Given the description of an element on the screen output the (x, y) to click on. 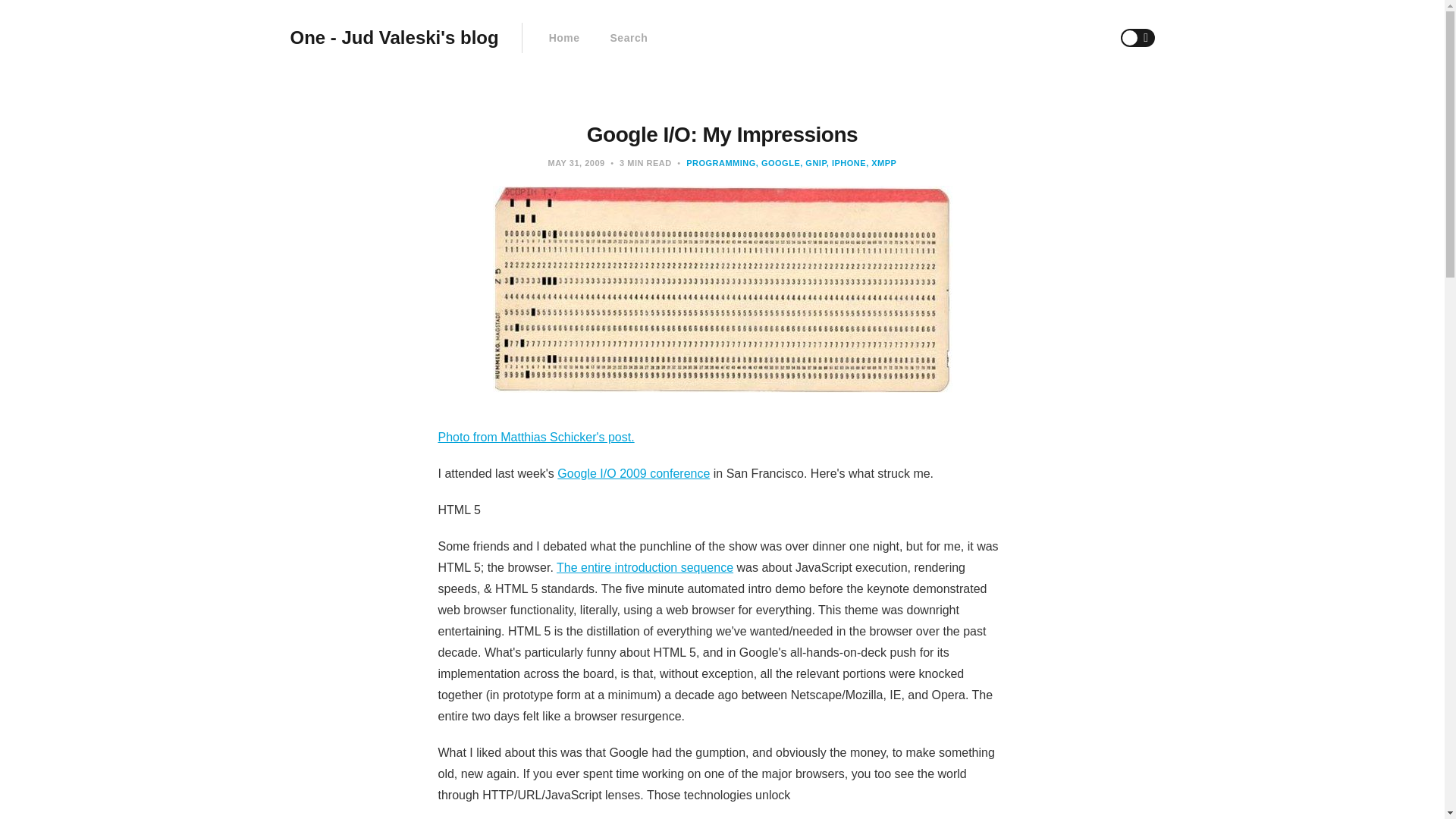
The entire introduction sequence (644, 567)
Photo from Matthias Schicker's post. (536, 436)
PROGRAMMING (720, 162)
GNIP (813, 162)
xmpp (881, 162)
programming (720, 162)
Search (628, 37)
GNIP (813, 162)
One - Jud Valeski's blog (393, 37)
google (777, 162)
